Given the description of an element on the screen output the (x, y) to click on. 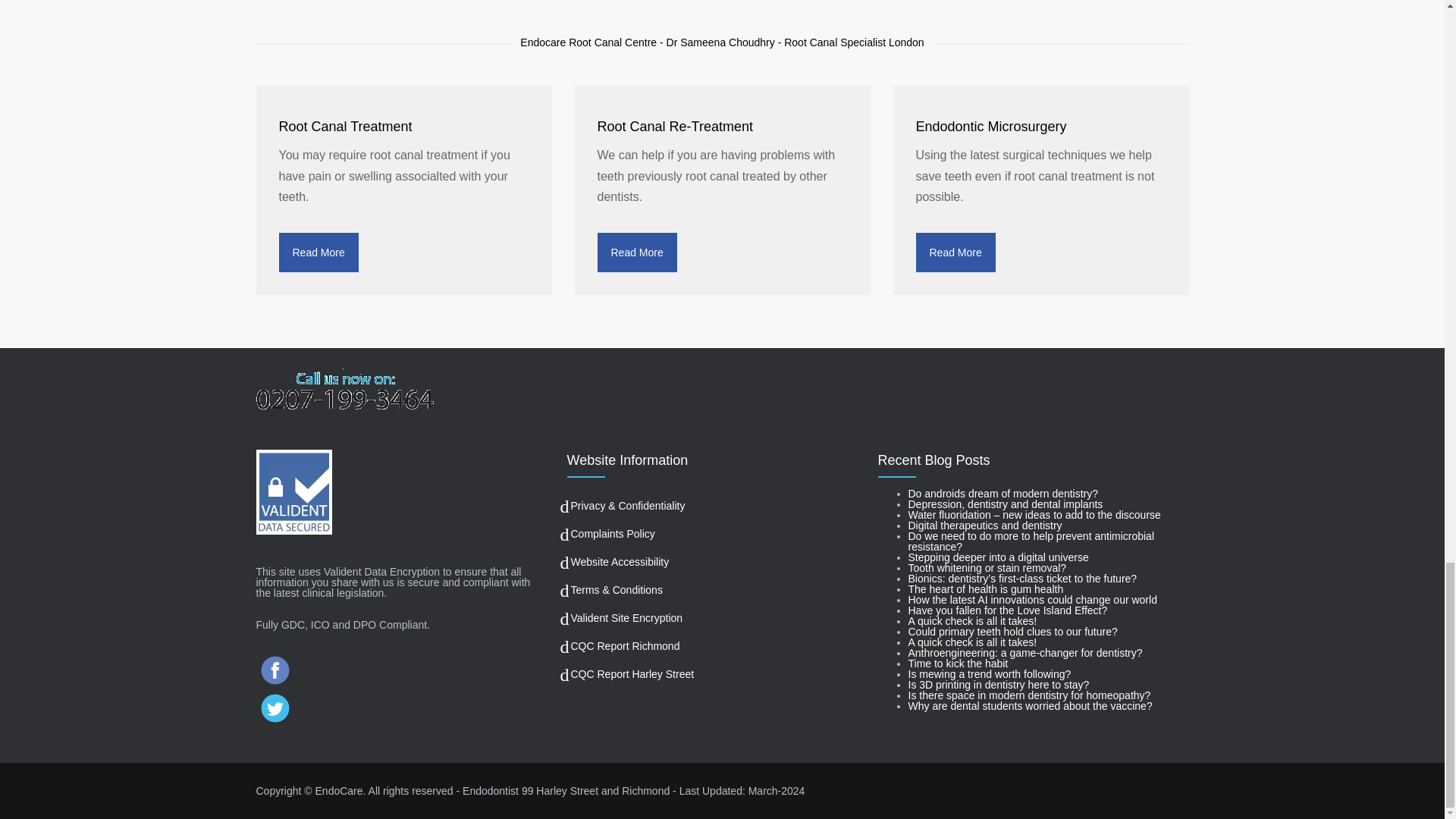
Read More (318, 251)
Read More (955, 251)
Read More (636, 251)
